Given the description of an element on the screen output the (x, y) to click on. 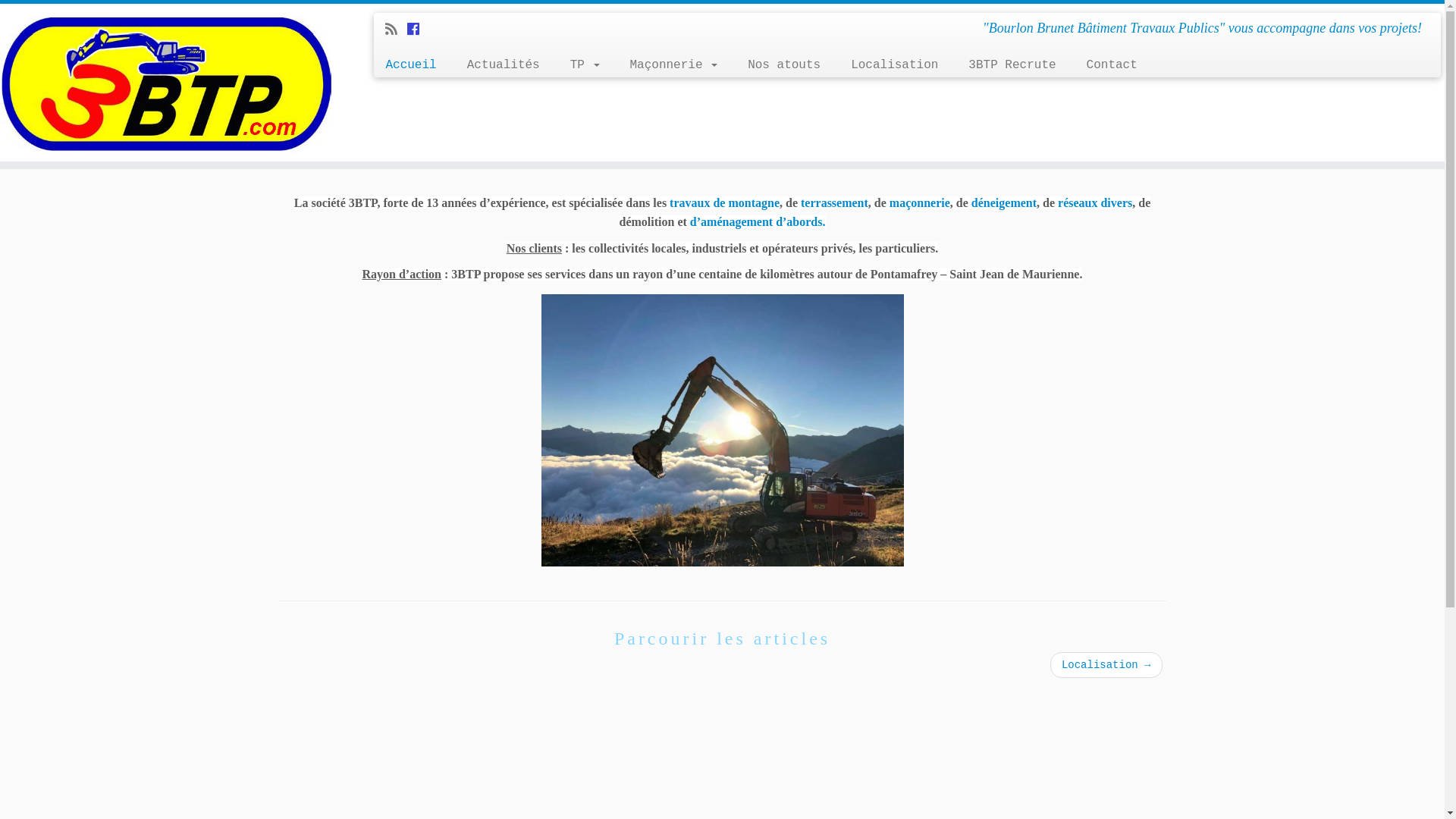
terrassement Element type: text (834, 202)
Nos atouts Element type: text (783, 65)
Contact Element type: text (1104, 65)
Abonnez-vous au flux rss Element type: hover (396, 29)
3BTP Recrute Element type: text (1011, 65)
Suivez-nous sur Facebook Element type: hover (418, 29)
travaux de montagne Element type: text (724, 202)
Accueil Element type: text (416, 65)
TP Element type: text (585, 65)
Localisation Element type: text (894, 65)
